Given the description of an element on the screen output the (x, y) to click on. 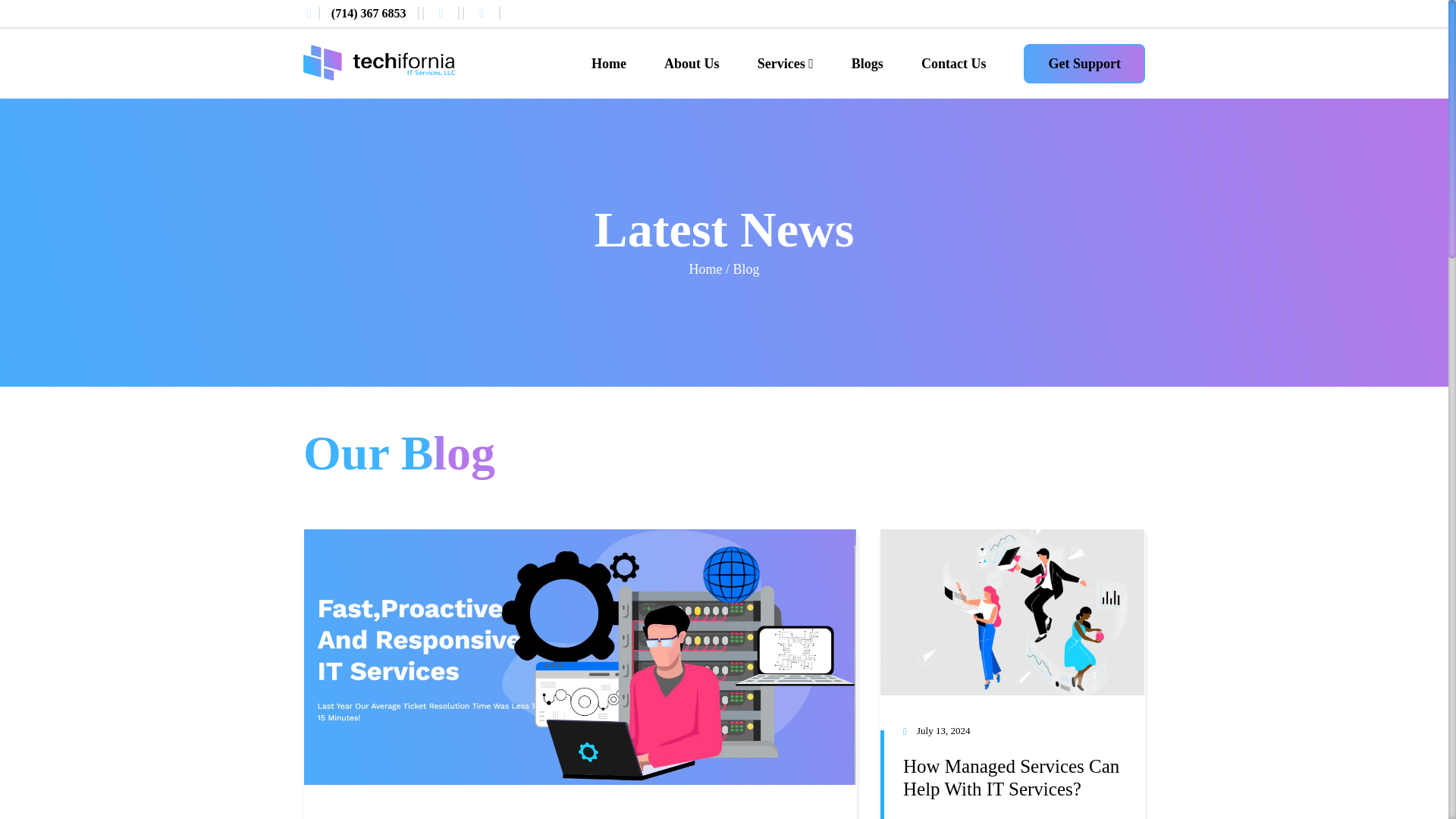
Services (785, 63)
Contact Us (954, 63)
Get Support (1084, 63)
Blogs (867, 63)
Home (608, 63)
About Us (691, 63)
